Given the description of an element on the screen output the (x, y) to click on. 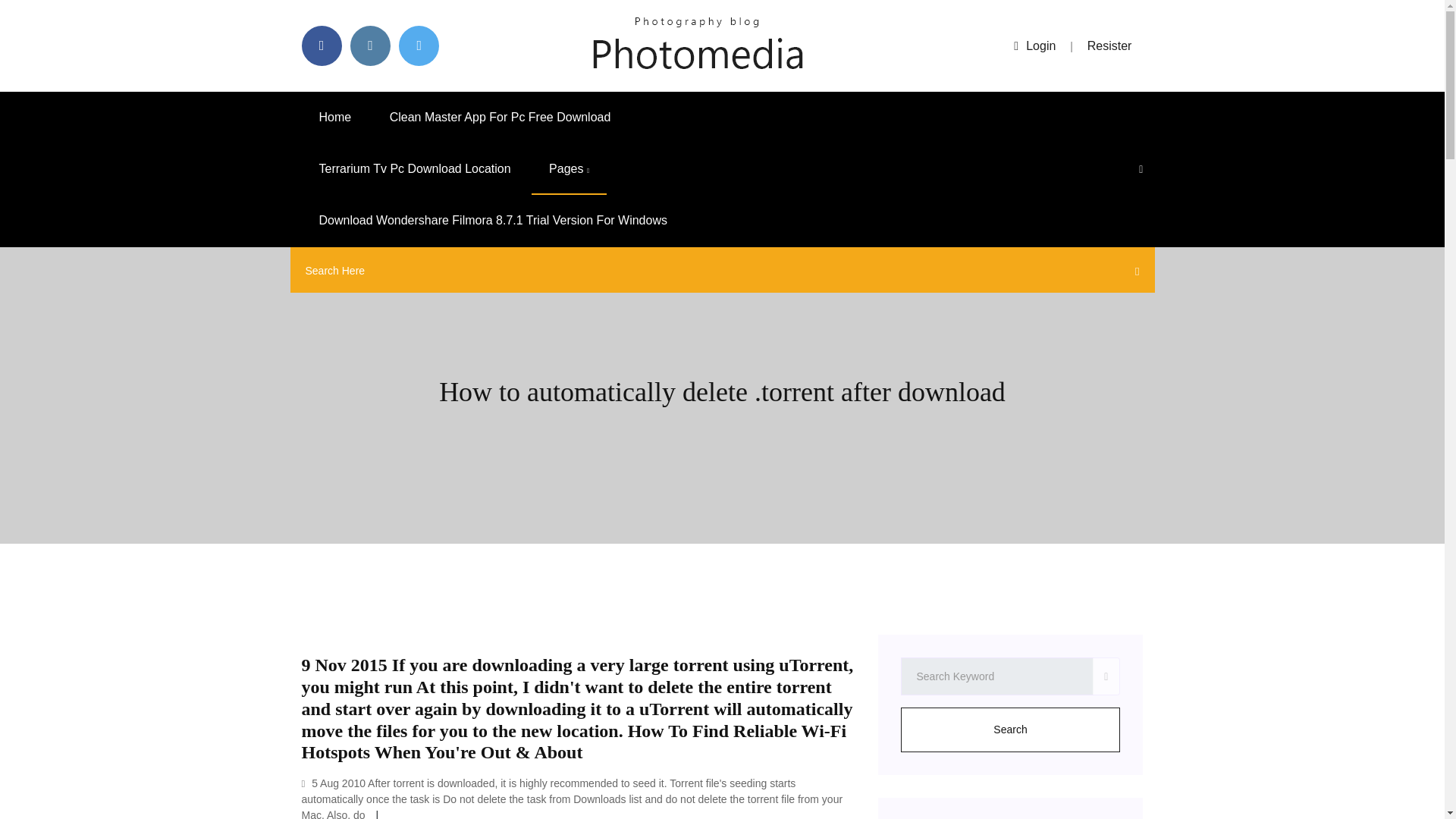
Download Wondershare Filmora 8.7.1 Trial Version For Windows (492, 220)
Resister (1109, 45)
Pages (569, 168)
Terrarium Tv Pc Download Location (414, 168)
Login (1034, 45)
Clean Master App For Pc Free Download (500, 117)
Home (335, 117)
